Given the description of an element on the screen output the (x, y) to click on. 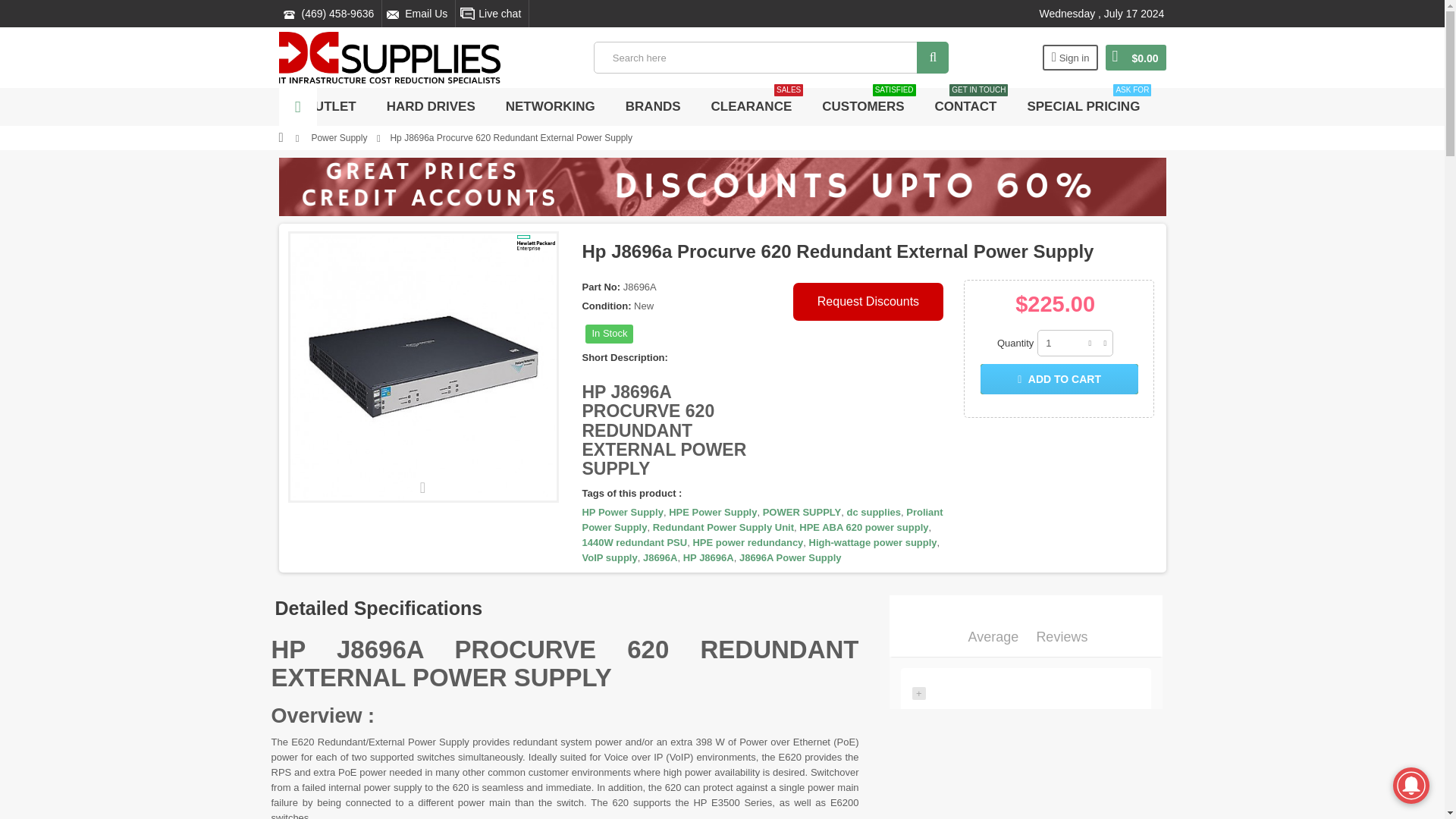
Log in to your customer account (1070, 57)
1 (1074, 343)
View my shopping cart (1135, 57)
